Given the description of an element on the screen output the (x, y) to click on. 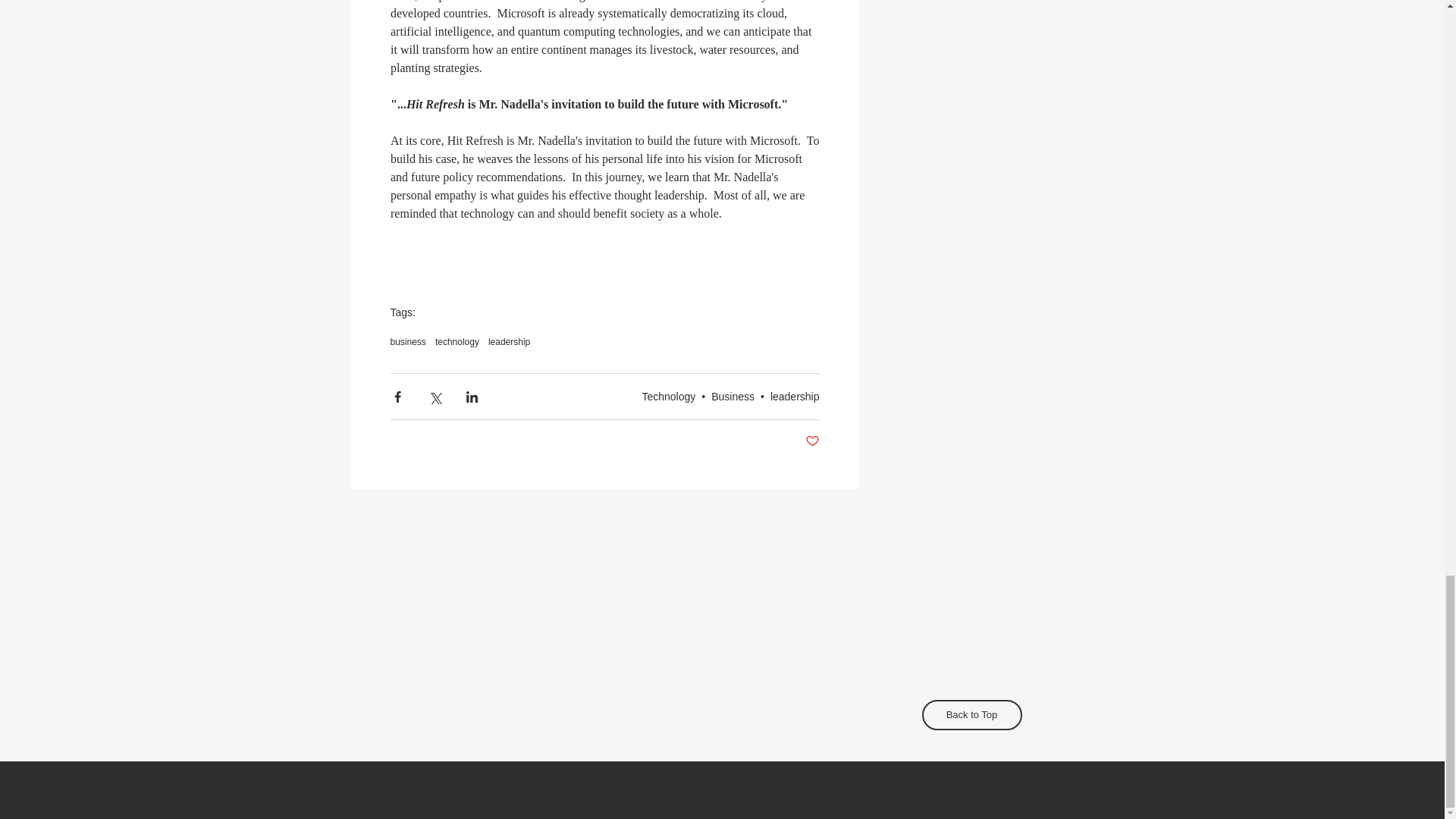
Business (732, 396)
leadership (794, 396)
leadership (508, 341)
Post not marked as liked (812, 441)
Back to Top (971, 715)
Technology (668, 396)
technology (457, 341)
business (407, 341)
